Given the description of an element on the screen output the (x, y) to click on. 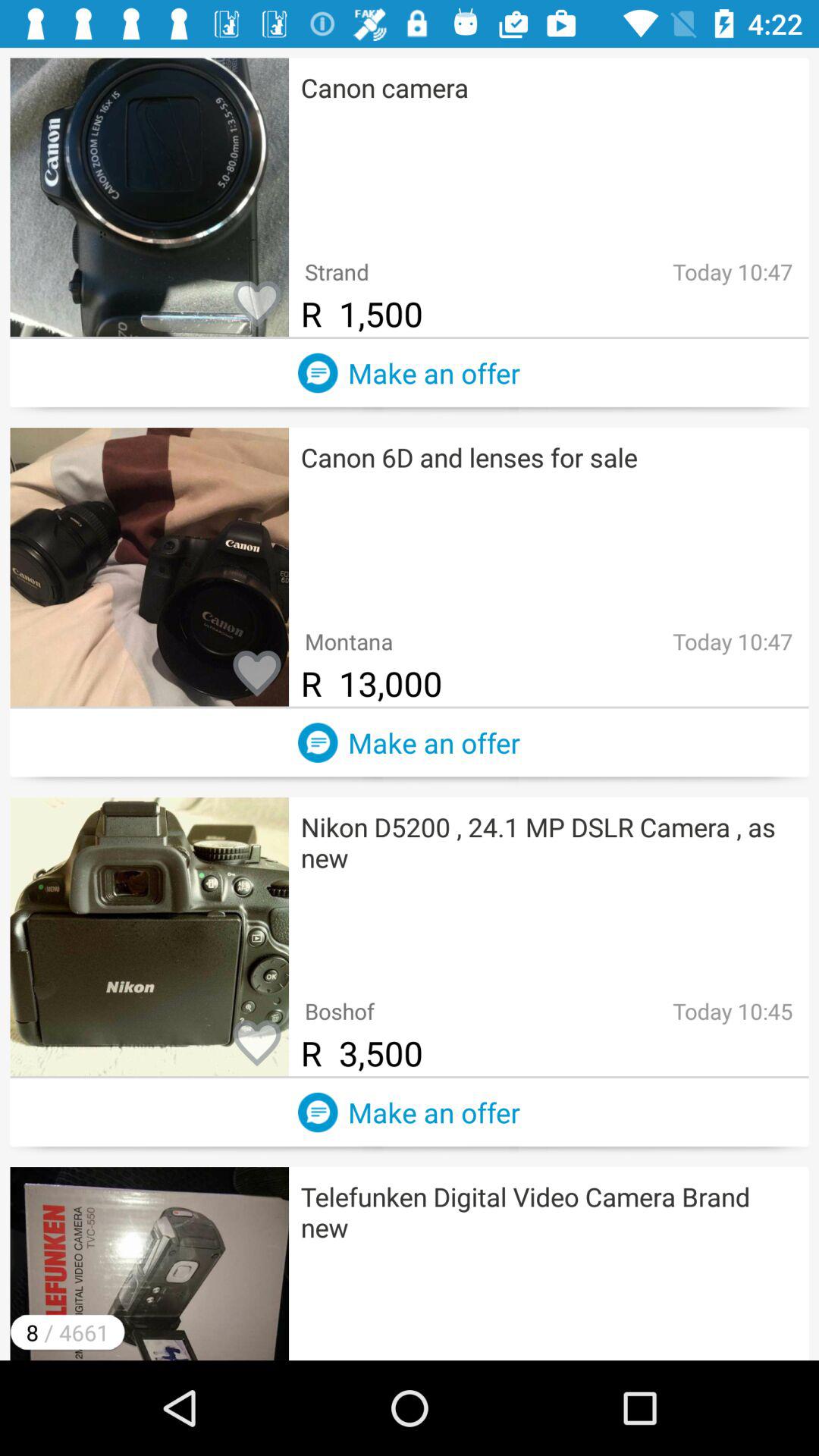
favorite this camera (256, 1044)
